Given the description of an element on the screen output the (x, y) to click on. 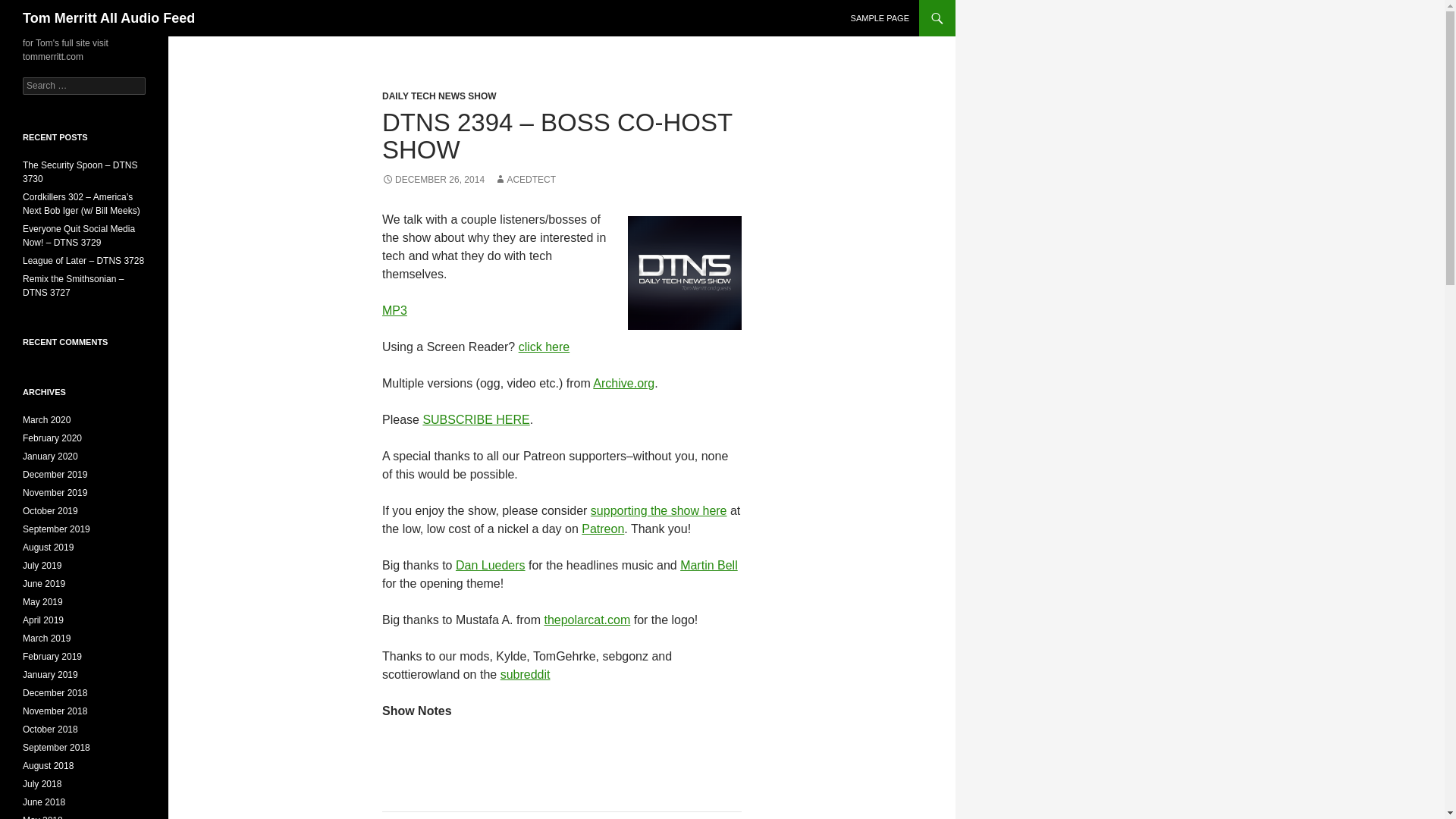
September 2019 (56, 529)
MP3 (394, 309)
August 2019 (48, 547)
supporting the show here (658, 510)
Dan Lueders (490, 564)
Martin Bell (708, 564)
Archive.org (622, 382)
October 2019 (50, 511)
SUBSCRIBE HERE (475, 419)
June 2019 (44, 583)
thepolarcat.com (586, 619)
Tom Merritt All Audio Feed (109, 18)
ACEDTECT (525, 179)
subreddit (525, 674)
Patreon (602, 528)
